Given the description of an element on the screen output the (x, y) to click on. 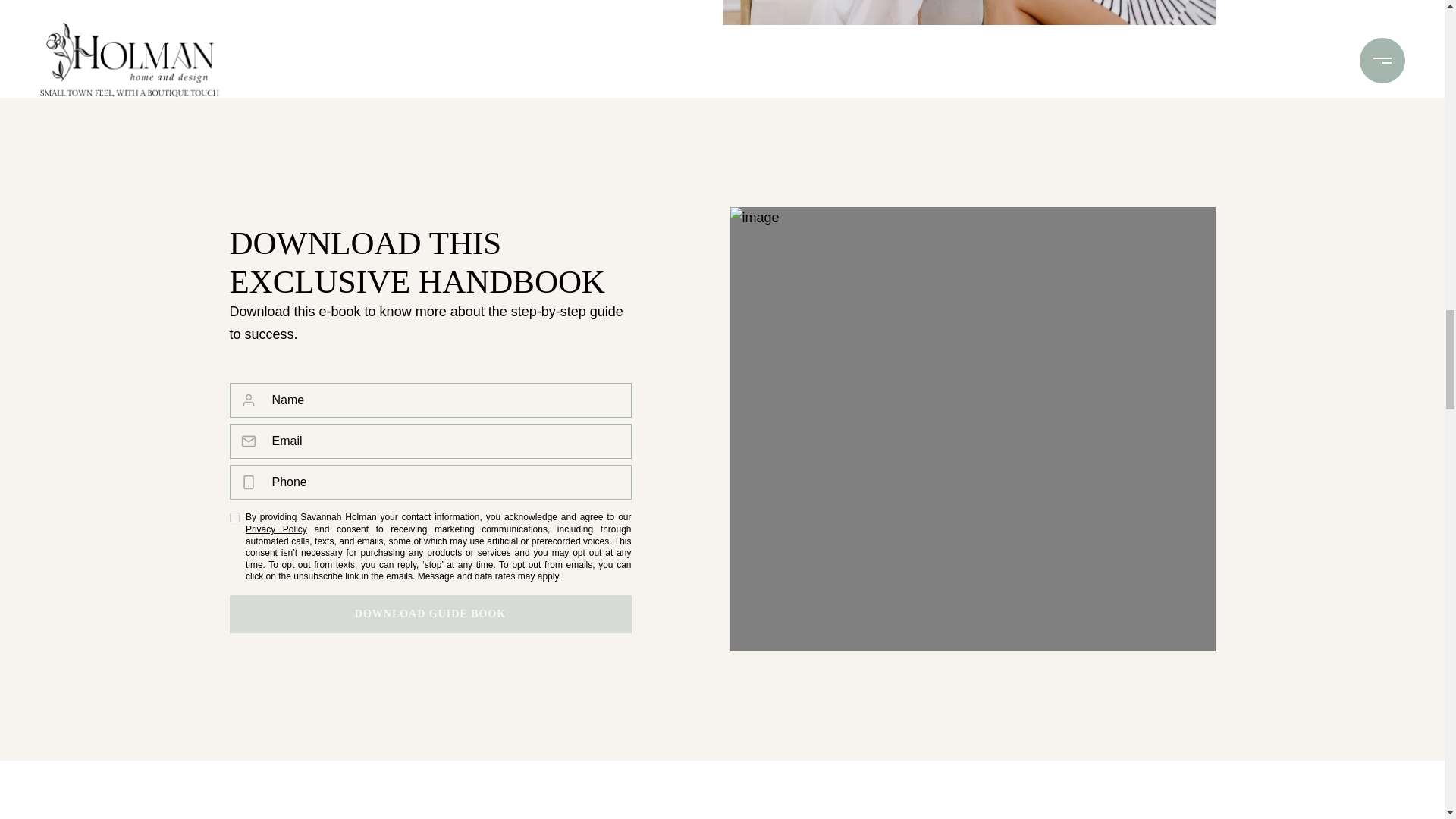
DOWNLOAD E-BOOK (429, 614)
Privacy Policy (276, 529)
on (233, 517)
